Given the description of an element on the screen output the (x, y) to click on. 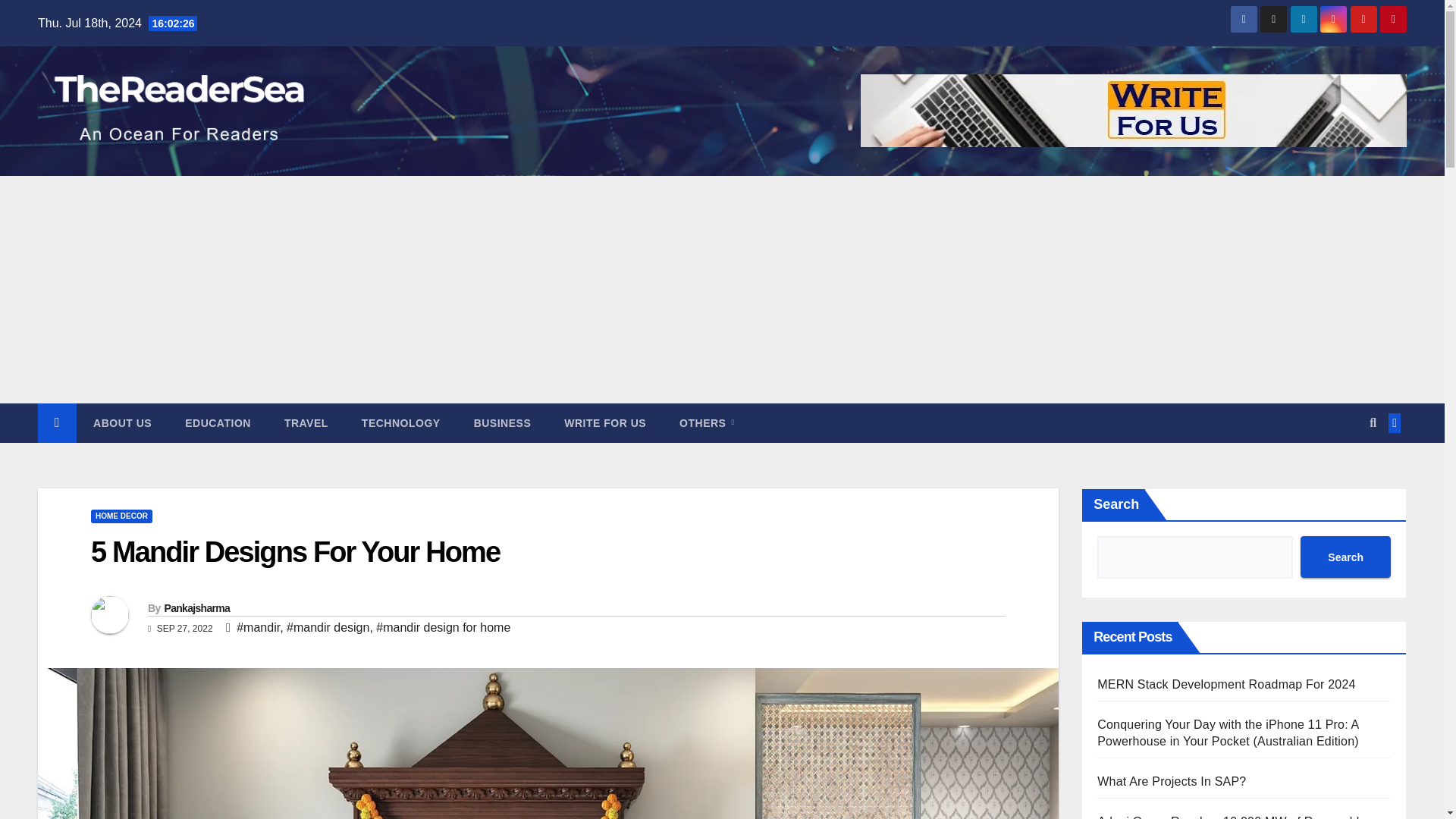
5 Mandir Designs For Your Home (294, 552)
Education (217, 423)
Business (502, 423)
Pankajsharma (196, 607)
Write For Us (604, 423)
Others (706, 423)
EDUCATION (217, 423)
HOME DECOR (121, 516)
Technology (401, 423)
TRAVEL (306, 423)
BUSINESS (502, 423)
WRITE FOR US (604, 423)
About Us (122, 423)
OTHERS (706, 423)
Travel (306, 423)
